Given the description of an element on the screen output the (x, y) to click on. 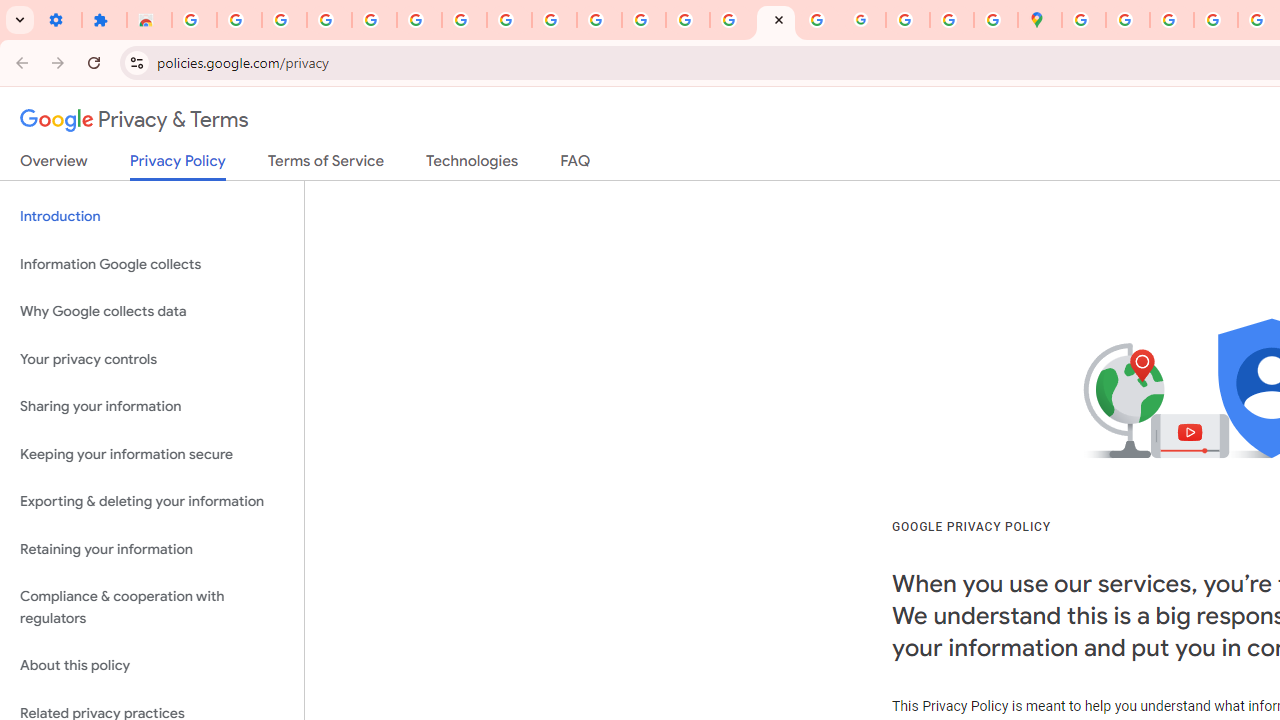
Exporting & deleting your information (152, 502)
Technologies (472, 165)
Information Google collects (152, 263)
Compliance & cooperation with regulators (152, 607)
Sharing your information (152, 407)
Create your Google Account (1171, 20)
About this policy (152, 666)
Google Maps (1039, 20)
Reviews: Helix Fruit Jump Arcade Game (148, 20)
